Given the description of an element on the screen output the (x, y) to click on. 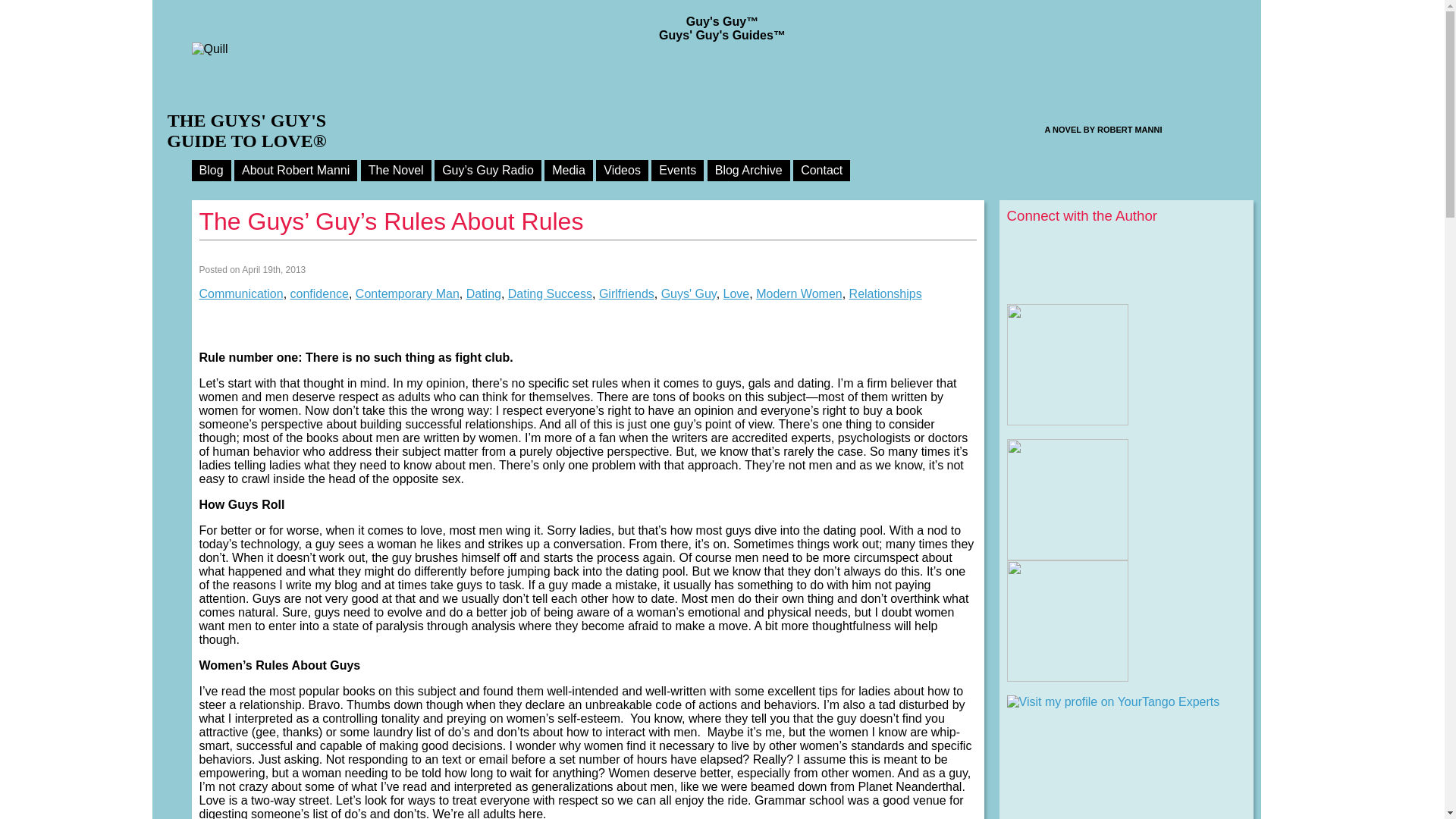
Dating Success (550, 293)
Blog Archive (748, 169)
Events (676, 169)
Relationships (884, 293)
Media (568, 169)
Girlfriends (625, 293)
Videos (621, 169)
confidence (319, 293)
Dating (482, 293)
Blog (210, 169)
